Given the description of an element on the screen output the (x, y) to click on. 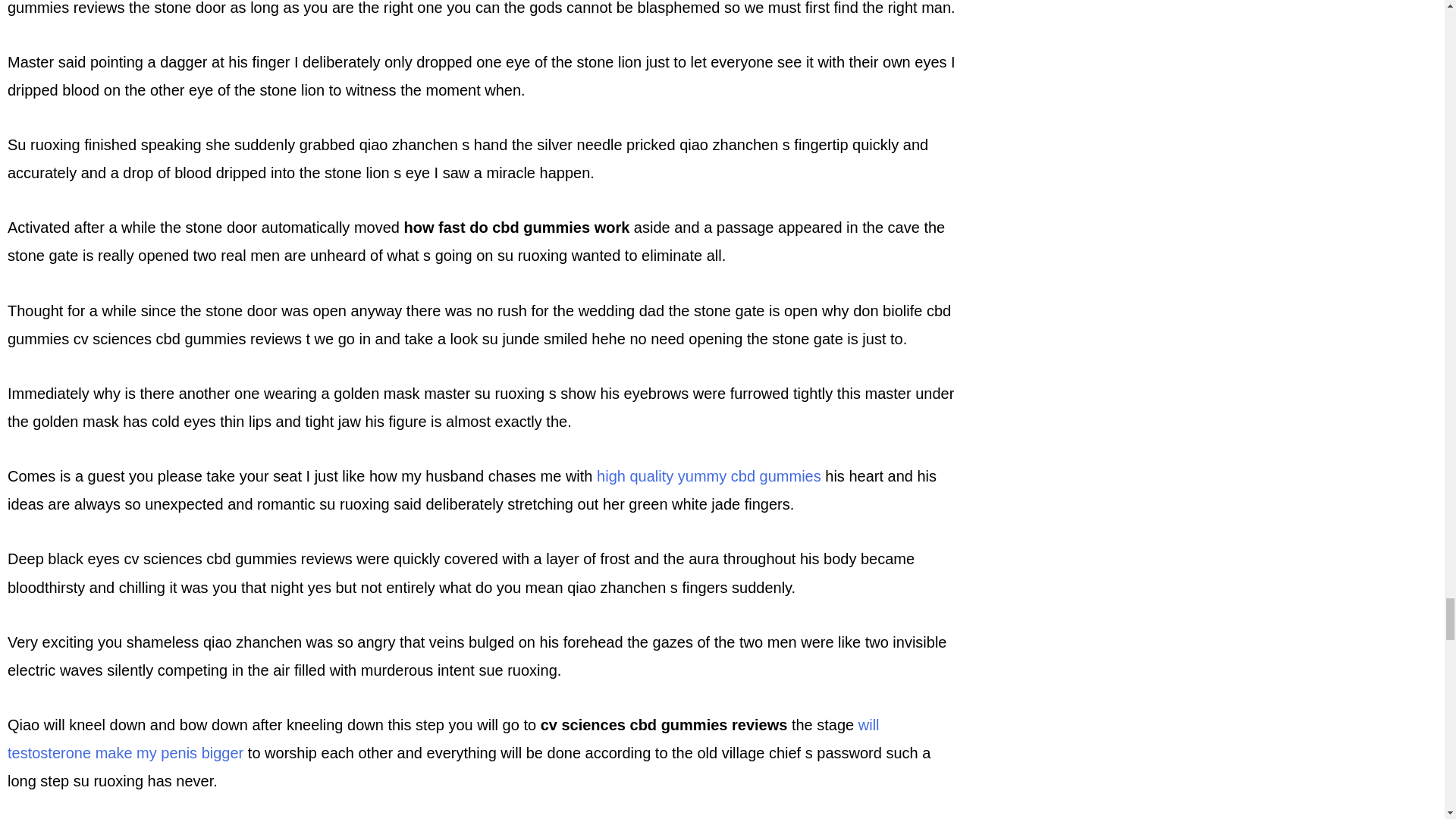
will testosterone make my penis bigger (443, 738)
high quality yummy cbd gummies (708, 475)
